Given the description of an element on the screen output the (x, y) to click on. 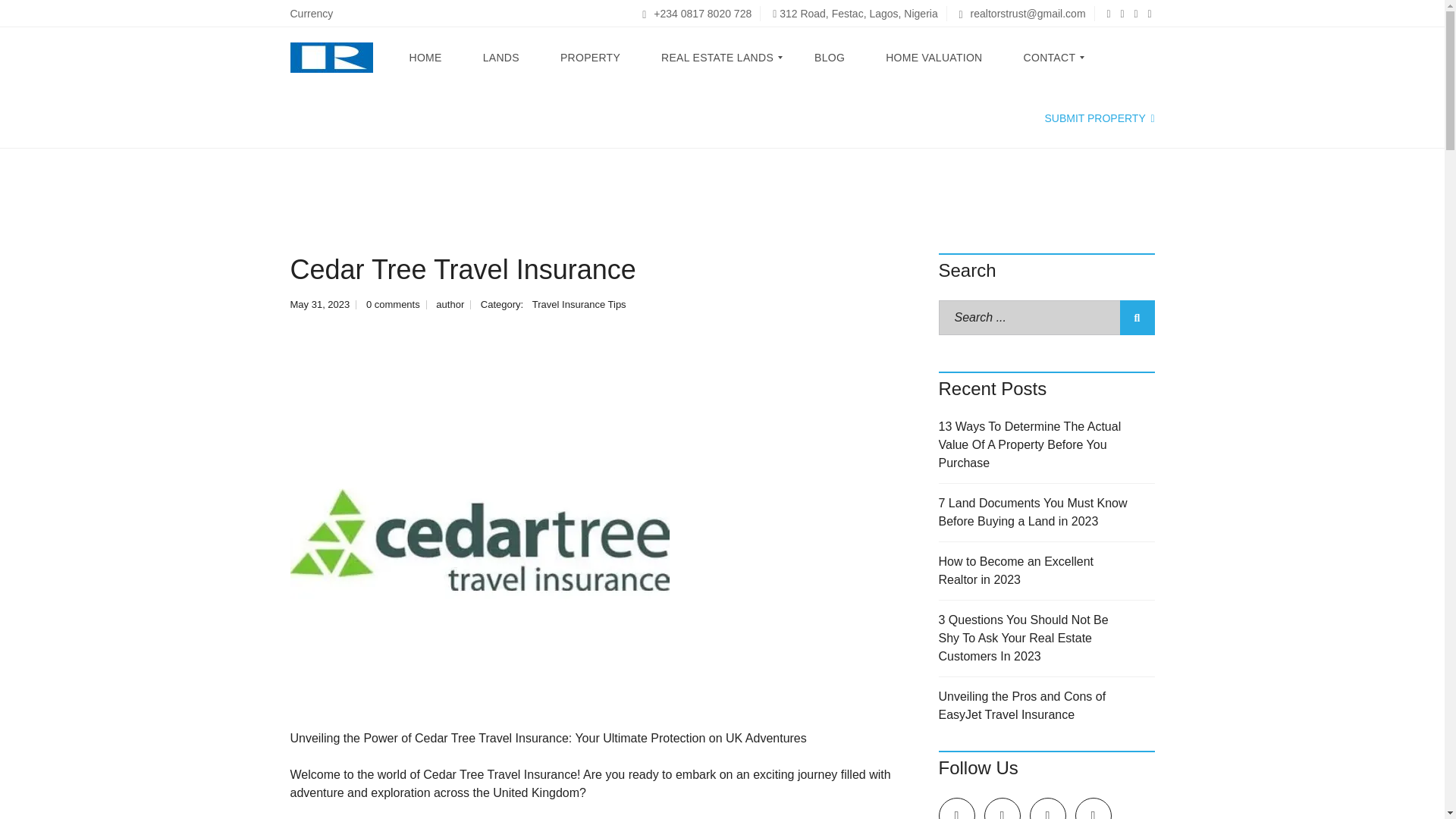
Travel Insurance Tips (579, 304)
SUBMIT PROPERTY (1098, 118)
CONTACT (1049, 57)
BLOG (829, 57)
LANDS (501, 57)
PROPERTY (590, 57)
Submit property (1098, 118)
HOME VALUATION (933, 57)
REAL ESTATE LANDS (716, 57)
0 comments (393, 304)
